Given the description of an element on the screen output the (x, y) to click on. 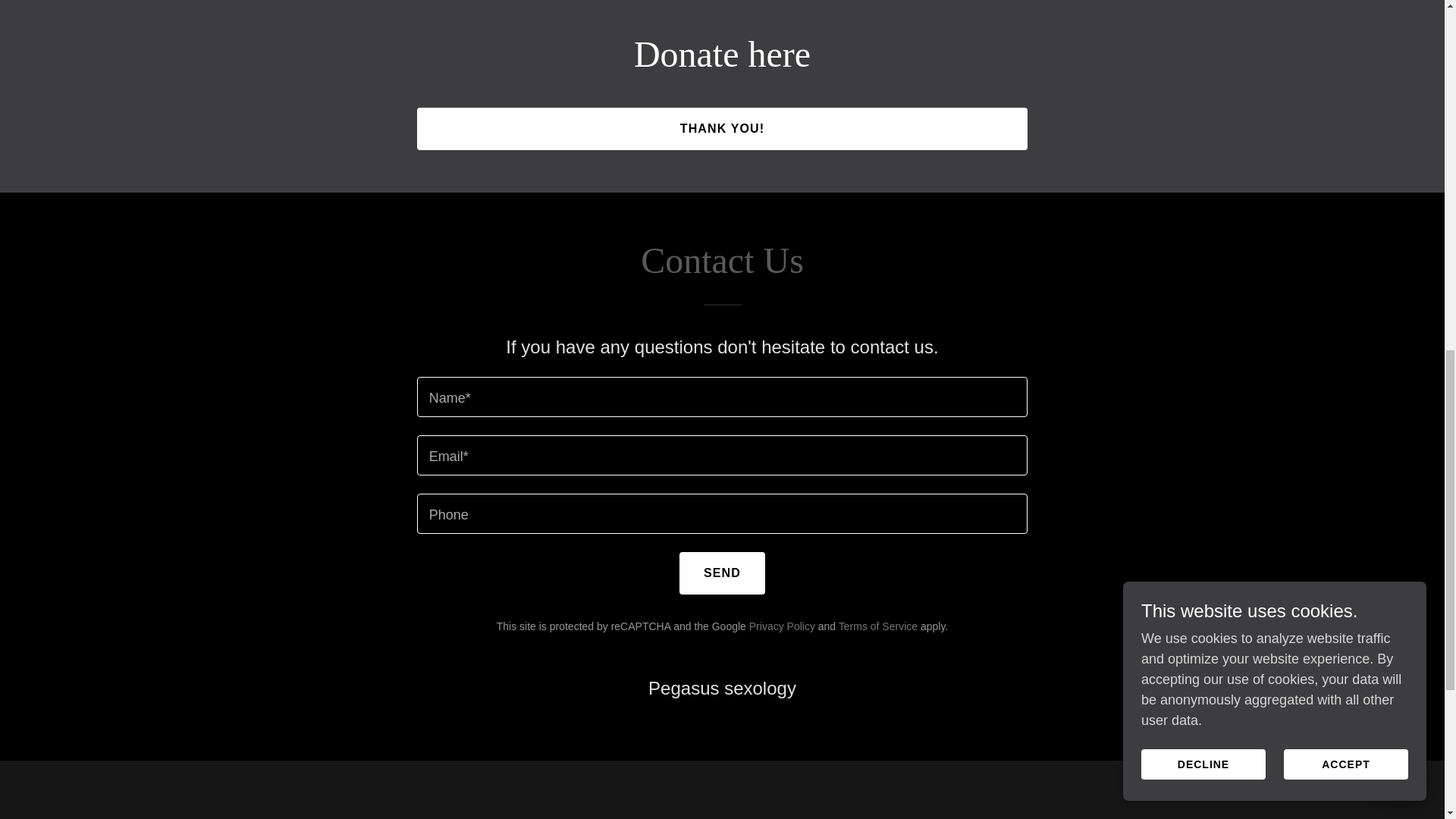
Privacy Policy (782, 625)
THANK YOU! (721, 128)
SEND (722, 573)
